Given the description of an element on the screen output the (x, y) to click on. 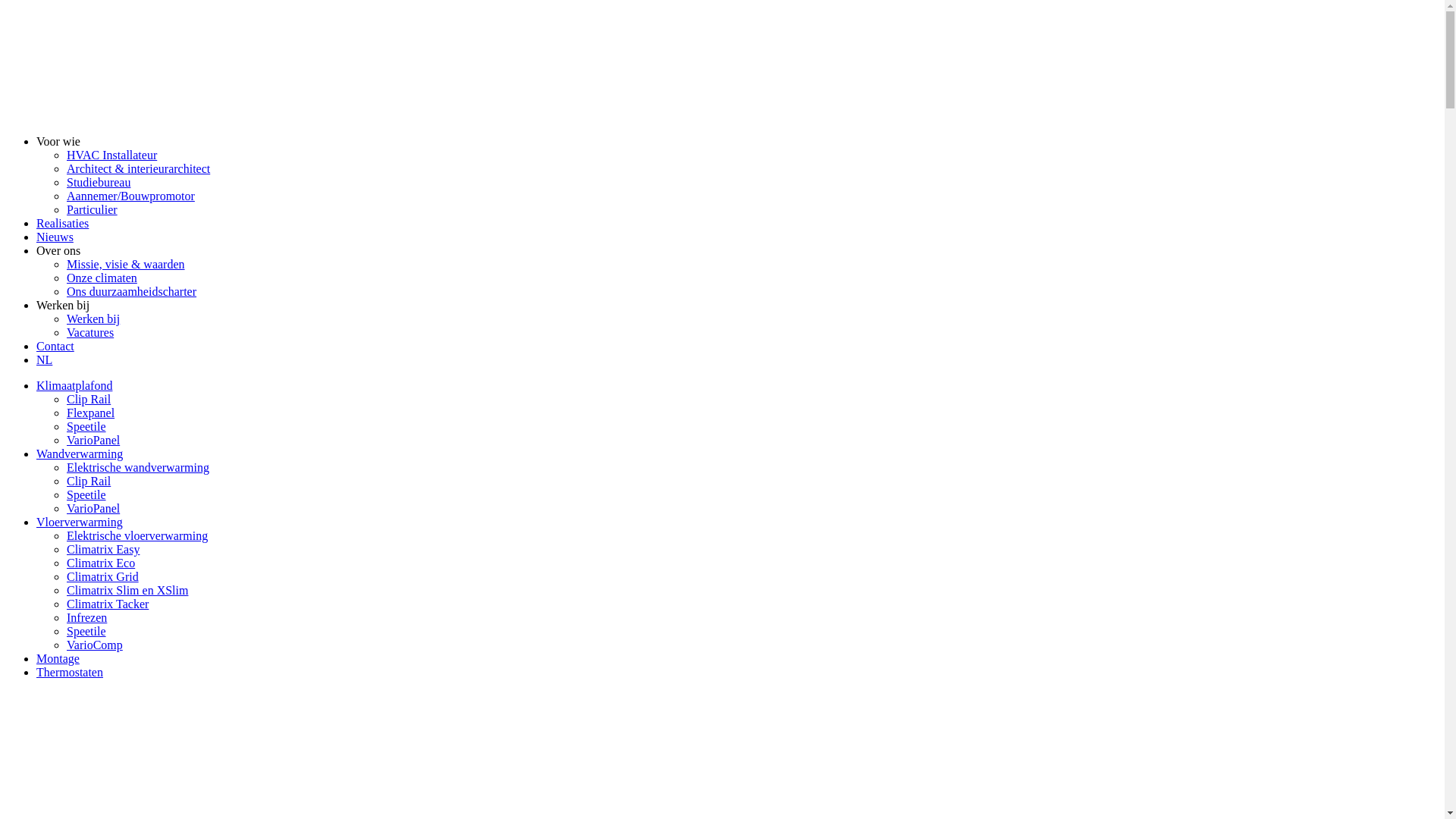
Werken bij Element type: text (92, 318)
Climatrix Eco Element type: text (100, 562)
Onze climaten Element type: text (101, 277)
Climatrix Tacker Element type: text (107, 603)
Studiebureau Element type: text (98, 181)
Elektrische vloerverwarming Element type: text (136, 535)
Montage Element type: text (57, 658)
Flexpanel Element type: text (90, 412)
Climatrix Element type: hover (119, 800)
Climatrix Easy Element type: text (102, 548)
Wandverwarming Element type: text (79, 453)
Ons duurzaamheidscharter Element type: text (131, 291)
Realisaties Element type: text (62, 222)
Vloerverwarming Element type: text (79, 521)
Voor wie Element type: text (58, 140)
Clip Rail Element type: text (88, 480)
Thermostaten Element type: text (69, 671)
Klimaatplafond Element type: text (74, 385)
Climatrix Grid Element type: text (102, 576)
VarioPanel Element type: text (92, 508)
NL Element type: text (737, 360)
Climatrix Slim en XSlim Element type: text (127, 589)
Over ons Element type: text (58, 250)
Infrezen Element type: text (86, 617)
Particulier Element type: text (91, 209)
VarioComp Element type: text (94, 644)
Elektrische wandverwarming Element type: text (137, 467)
Speetile Element type: text (86, 494)
Clip Rail Element type: text (88, 398)
Climatrix Element type: hover (119, 115)
Contact Element type: text (55, 345)
Vacatures Element type: text (89, 332)
VarioPanel Element type: text (92, 439)
Nieuws Element type: text (54, 236)
Speetile Element type: text (86, 426)
Architect & interieurarchitect Element type: text (138, 168)
Werken bij Element type: text (62, 304)
Aannemer/Bouwpromotor Element type: text (130, 195)
Missie, visie & waarden Element type: text (125, 263)
Speetile Element type: text (86, 630)
HVAC Installateur Element type: text (111, 154)
